Given the description of an element on the screen output the (x, y) to click on. 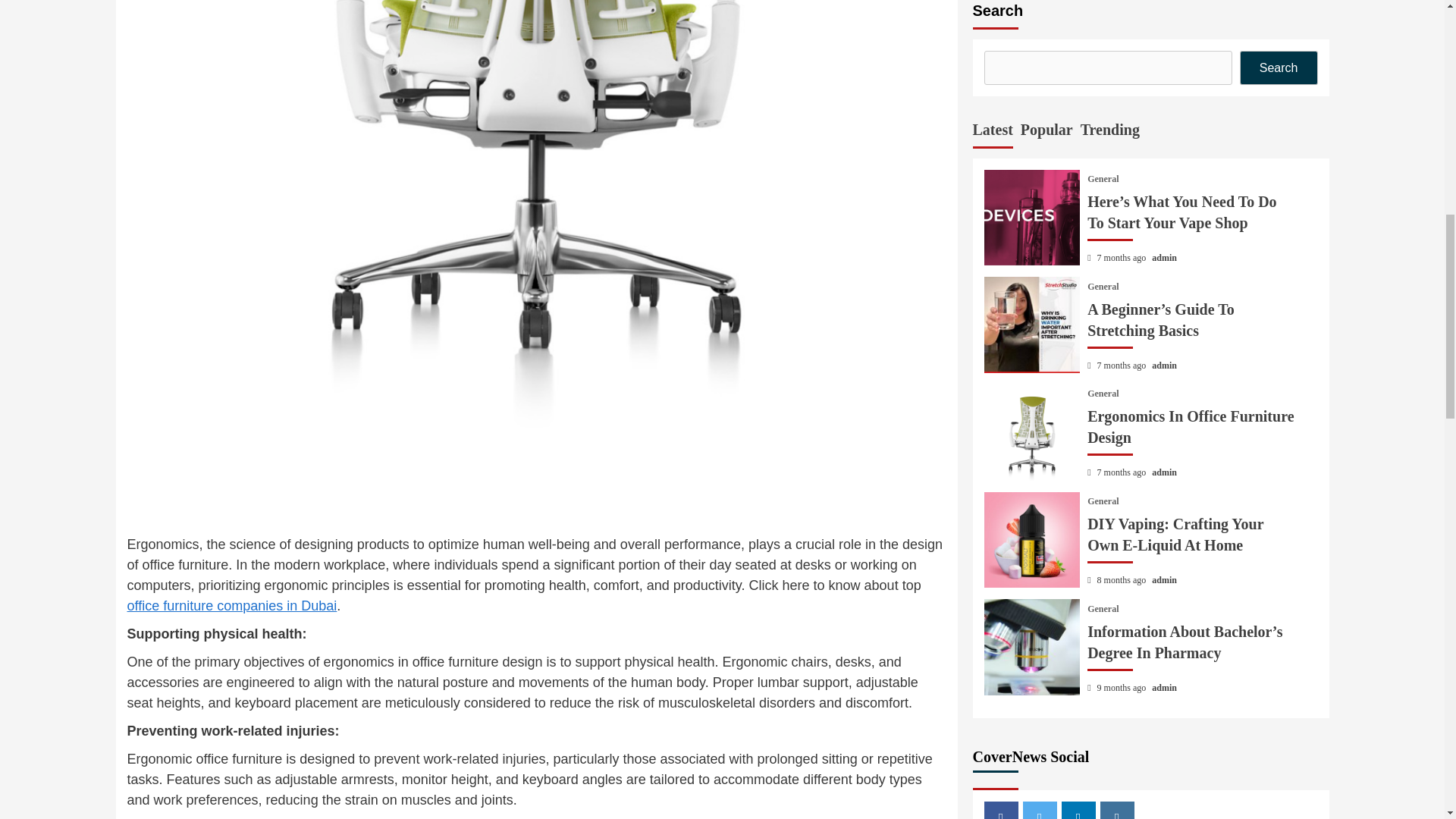
office furniture companies in Dubai (232, 605)
